Given the description of an element on the screen output the (x, y) to click on. 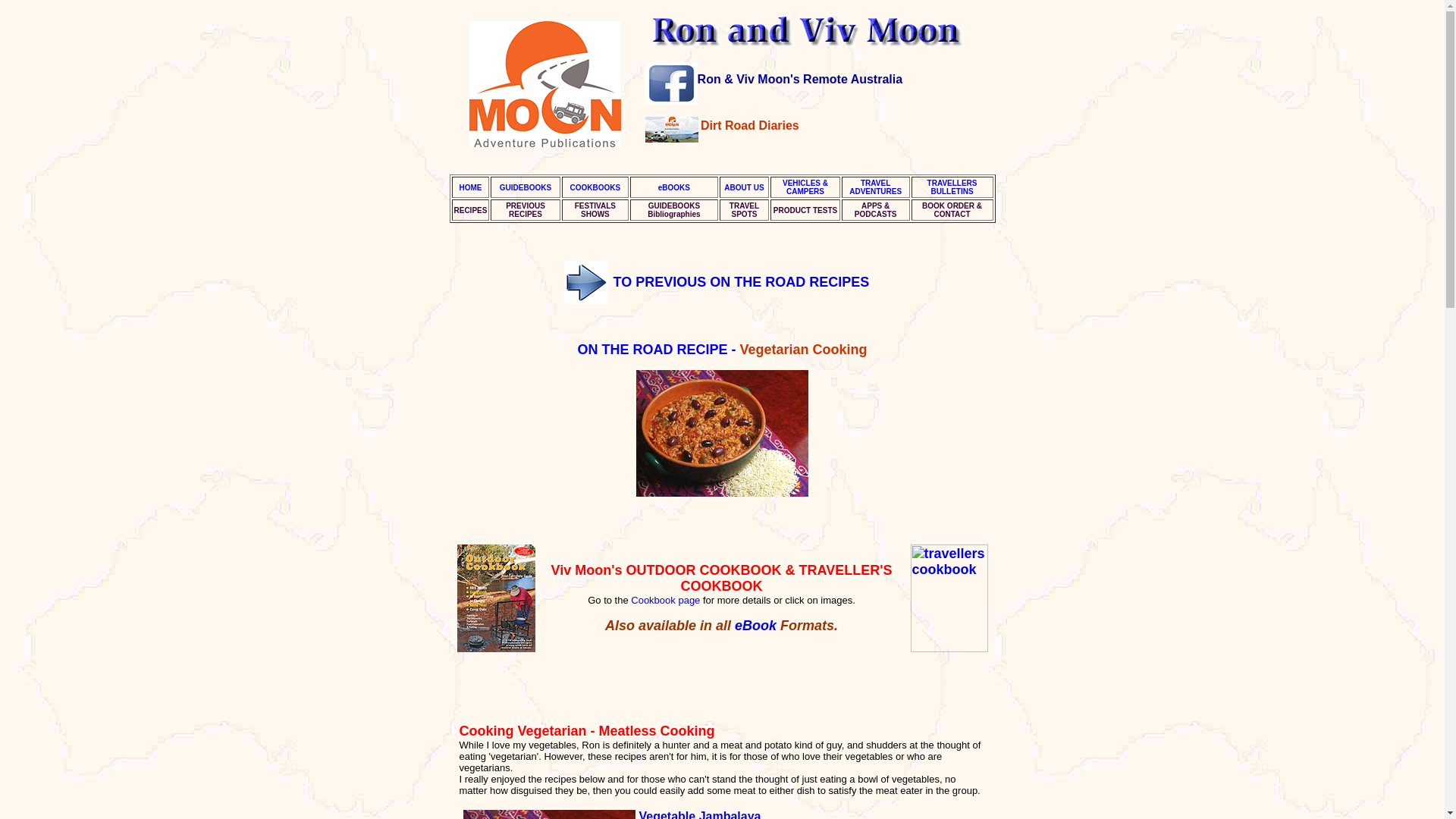
GUIDEBOOKS Bibliographies (673, 209)
ABOUT US (742, 187)
PREVIOUS RECIPES (524, 209)
eBOOKS (674, 187)
GUIDEBOOKS (525, 187)
FESTIVALS SHOWS (595, 209)
Cookbook page (665, 600)
TRAVELLERS BULLETINS (951, 187)
Dirt Road Diaries (749, 124)
TO PREVIOUS ON THE ROAD RECIPES (874, 187)
TRAVEL SPOTS (740, 281)
PRODUCT TESTS (743, 209)
RECIPES (805, 210)
eBook (469, 210)
